Given the description of an element on the screen output the (x, y) to click on. 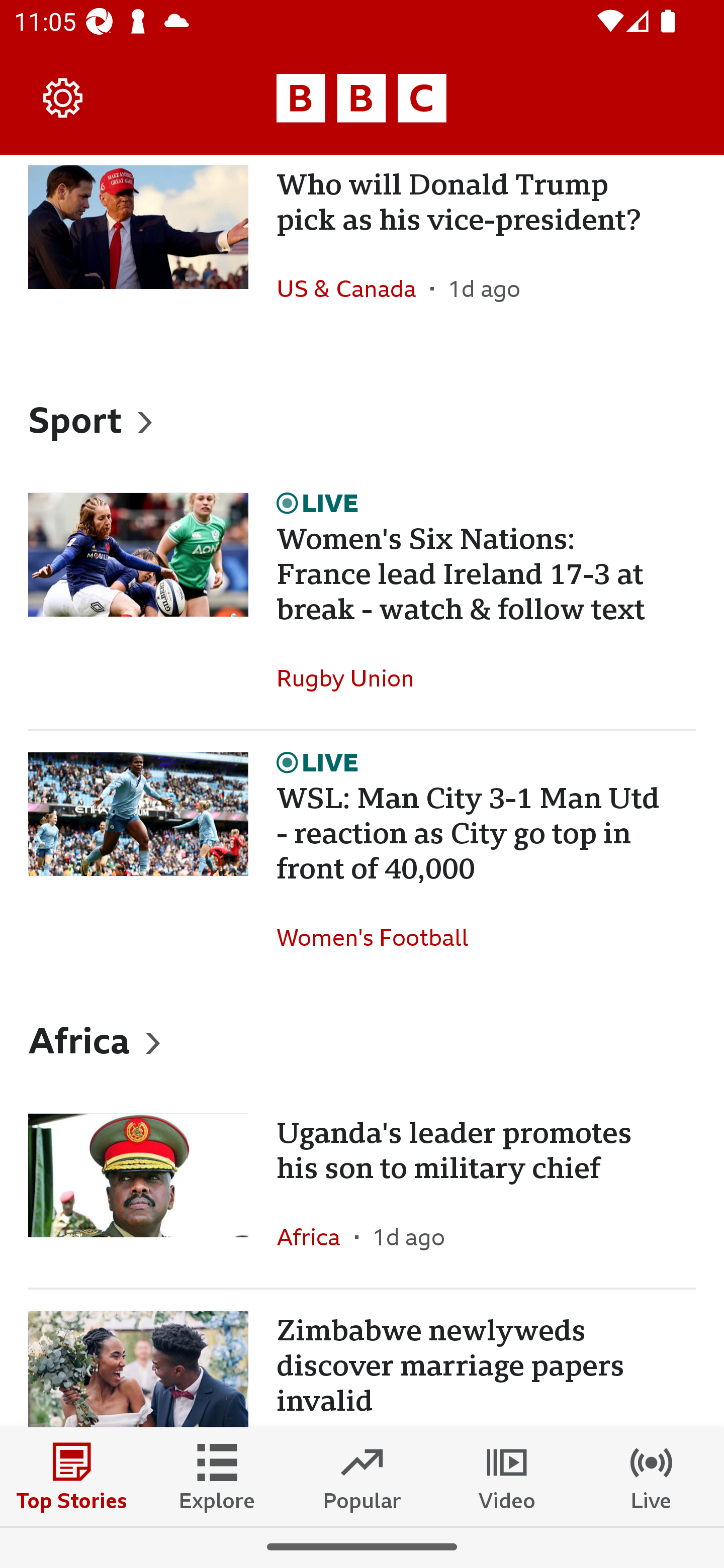
Settings (63, 97)
US & Canada In the section US & Canada (353, 288)
Sport, Heading Sport    (361, 418)
Rugby Union In the section Rugby Union (352, 678)
Women's Football In the section Women's Football (379, 936)
Africa, Heading Africa    (361, 1039)
Africa In the section Africa (315, 1236)
Explore (216, 1475)
Popular (361, 1475)
Video (506, 1475)
Live (651, 1475)
